Given the description of an element on the screen output the (x, y) to click on. 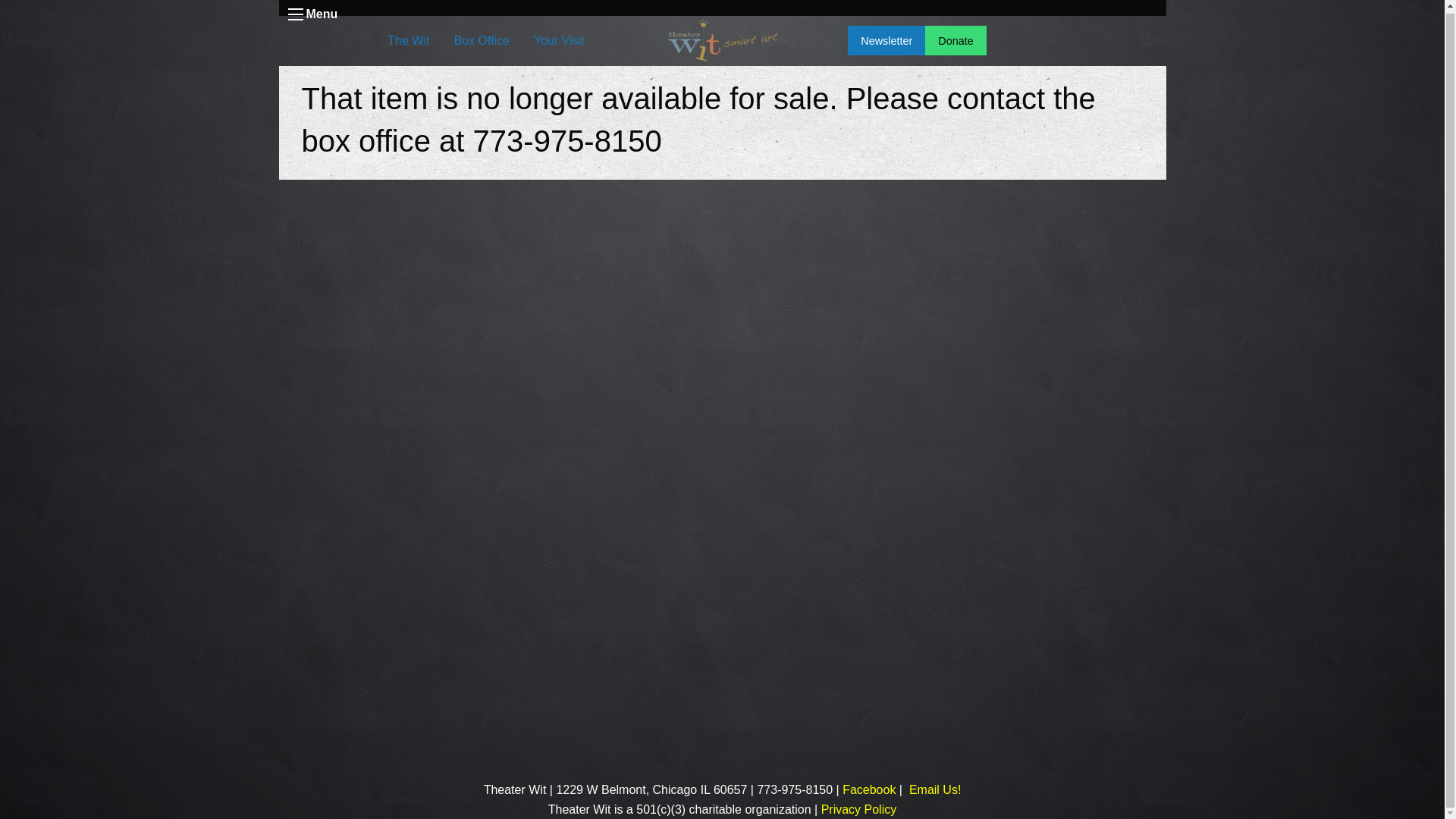
The Wit (408, 40)
Box Office (481, 40)
Facebook (869, 789)
Newsletter (885, 40)
Privacy Policy (858, 809)
Theater Wit (869, 789)
Email Us! (934, 789)
Your Visit (558, 40)
Donate (954, 40)
